Given the description of an element on the screen output the (x, y) to click on. 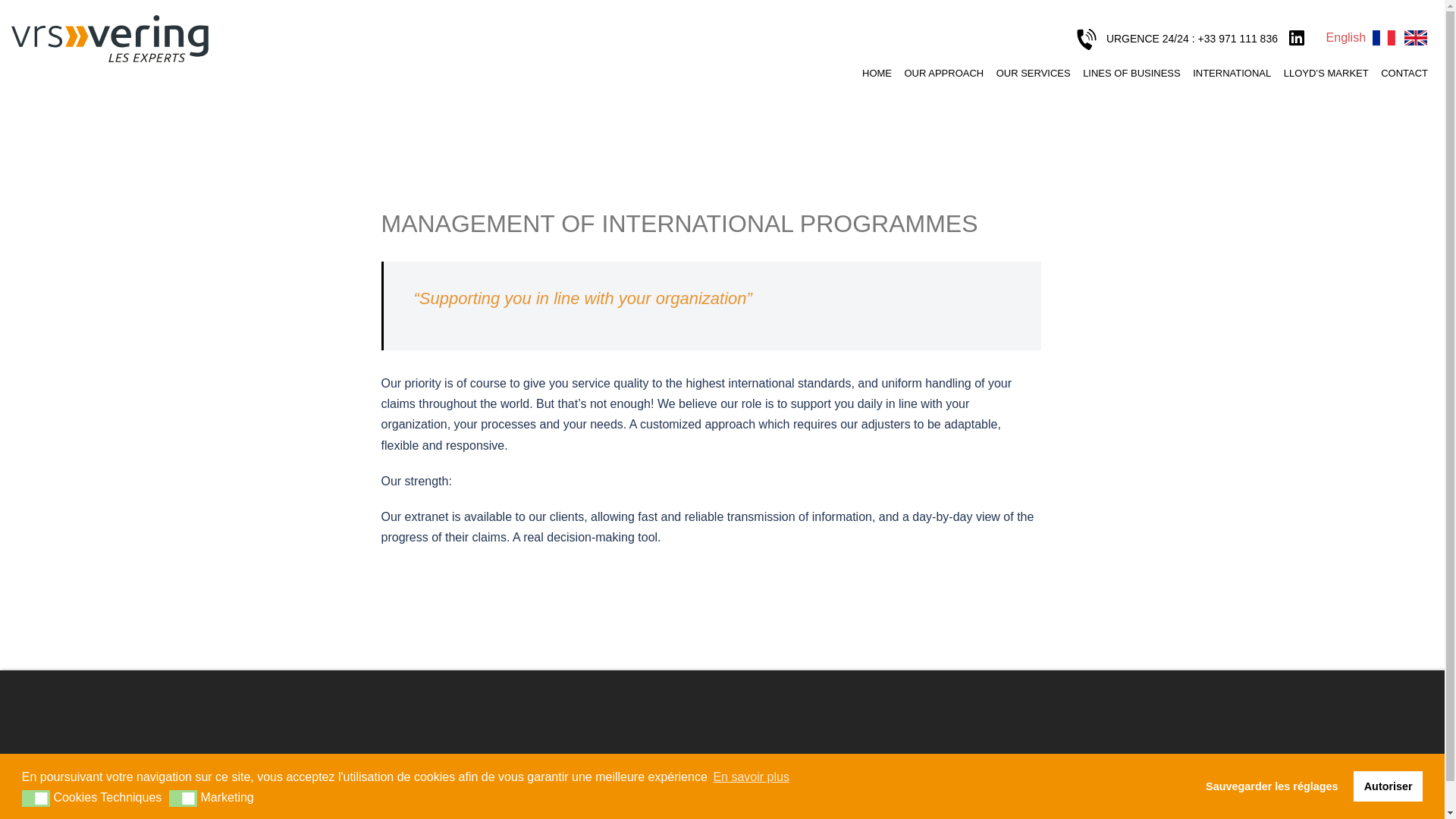
OUR SERVICES (1032, 72)
OUR APPROACH (944, 72)
VRS VERING EXPERTS (109, 37)
English (1345, 37)
HOME (876, 72)
LINES OF BUSINESS (1131, 72)
LinkedIn (1296, 37)
INTERNATIONAL (1231, 72)
English (1415, 37)
CONTACT (1404, 72)
